Given the description of an element on the screen output the (x, y) to click on. 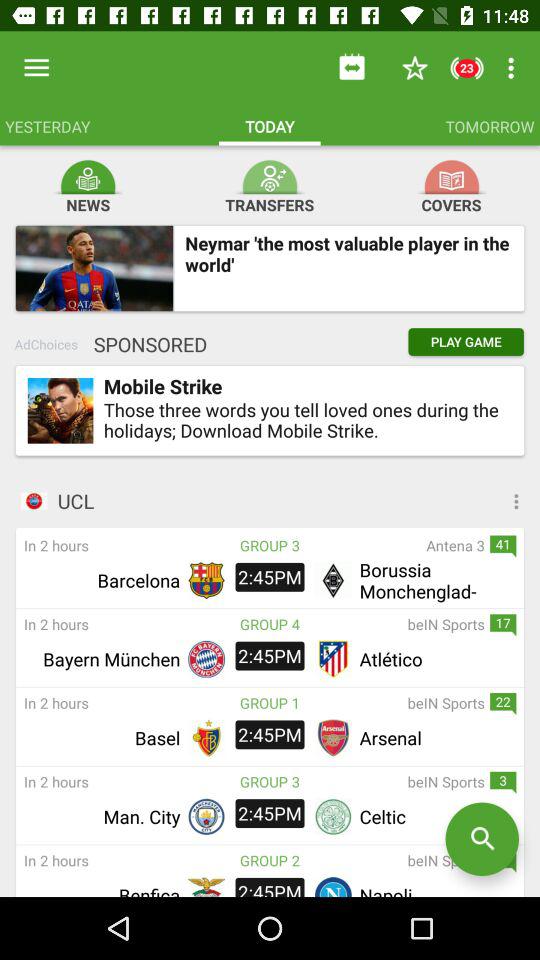
press icon next to the bein sports (270, 860)
